Given the description of an element on the screen output the (x, y) to click on. 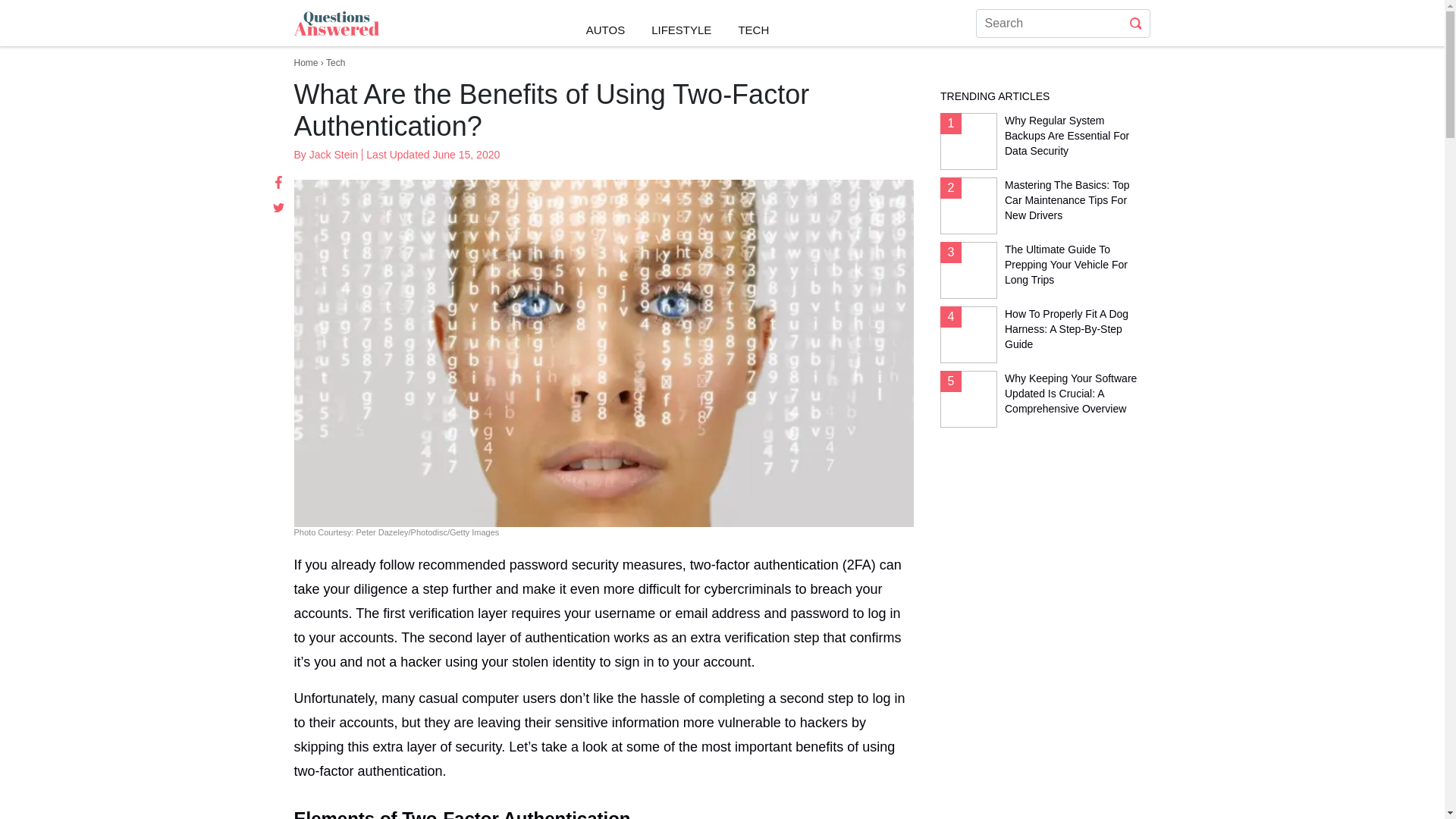
Tech (335, 62)
TECH (753, 22)
Home (307, 62)
Twitter (278, 207)
QuestionsAnswered.net (366, 49)
AUTOS (605, 22)
Facebook (278, 181)
Site Logo (336, 23)
LIFESTYLE (680, 22)
Submit Button (1136, 23)
